Given the description of an element on the screen output the (x, y) to click on. 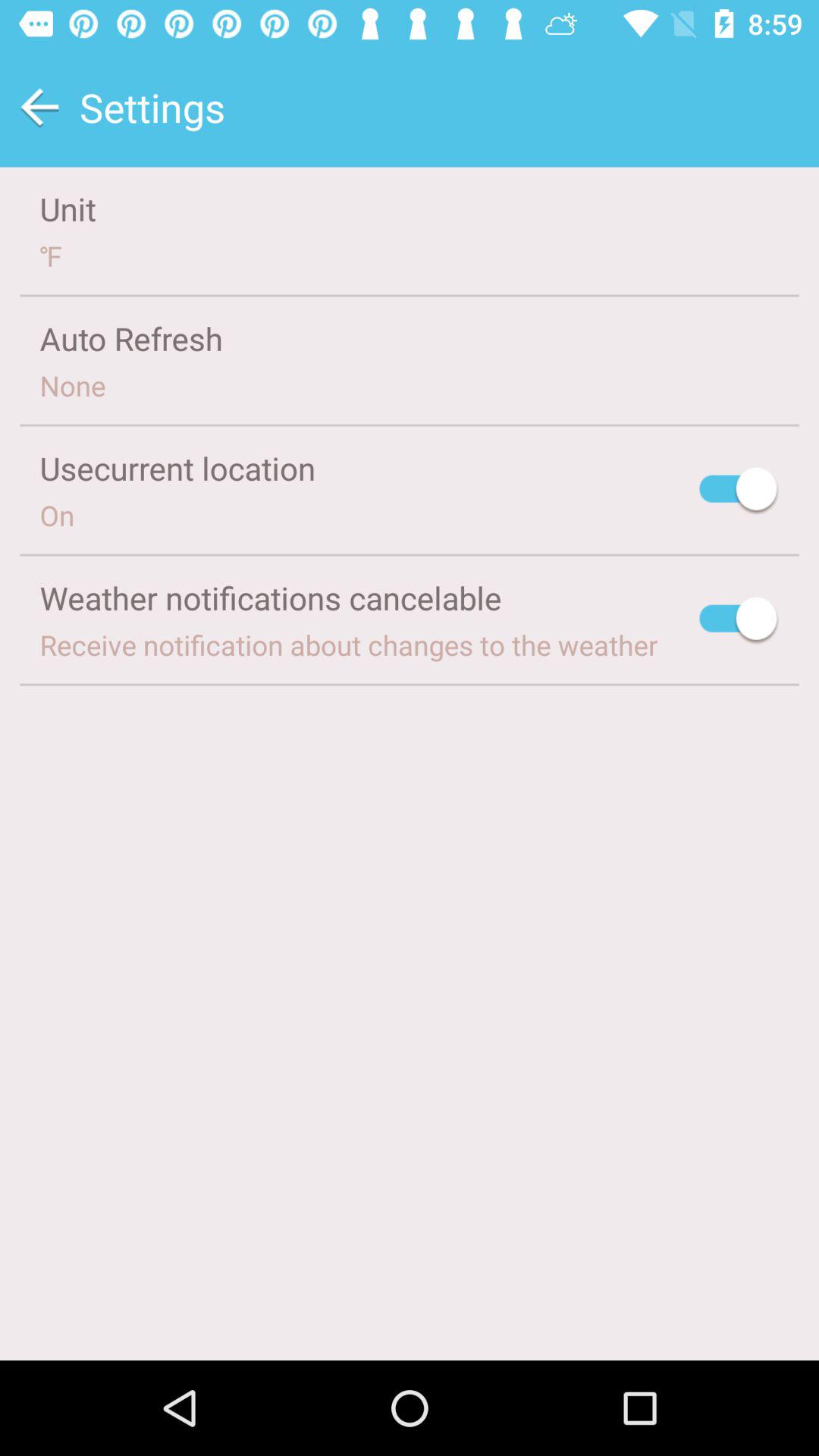
select the item next to the settings item (39, 107)
